Given the description of an element on the screen output the (x, y) to click on. 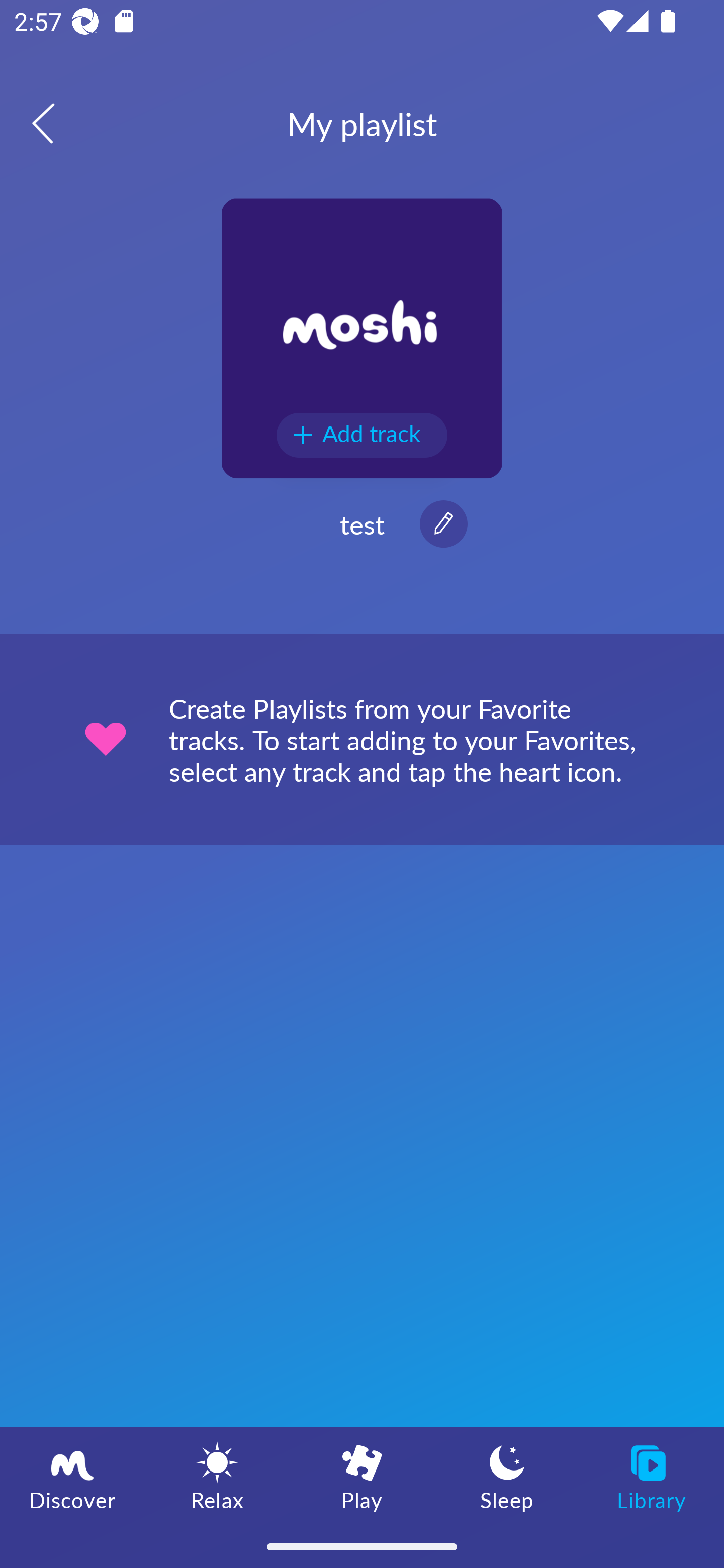
Add track (361, 434)
Discover (72, 1475)
Relax (216, 1475)
Play (361, 1475)
Sleep (506, 1475)
